Given the description of an element on the screen output the (x, y) to click on. 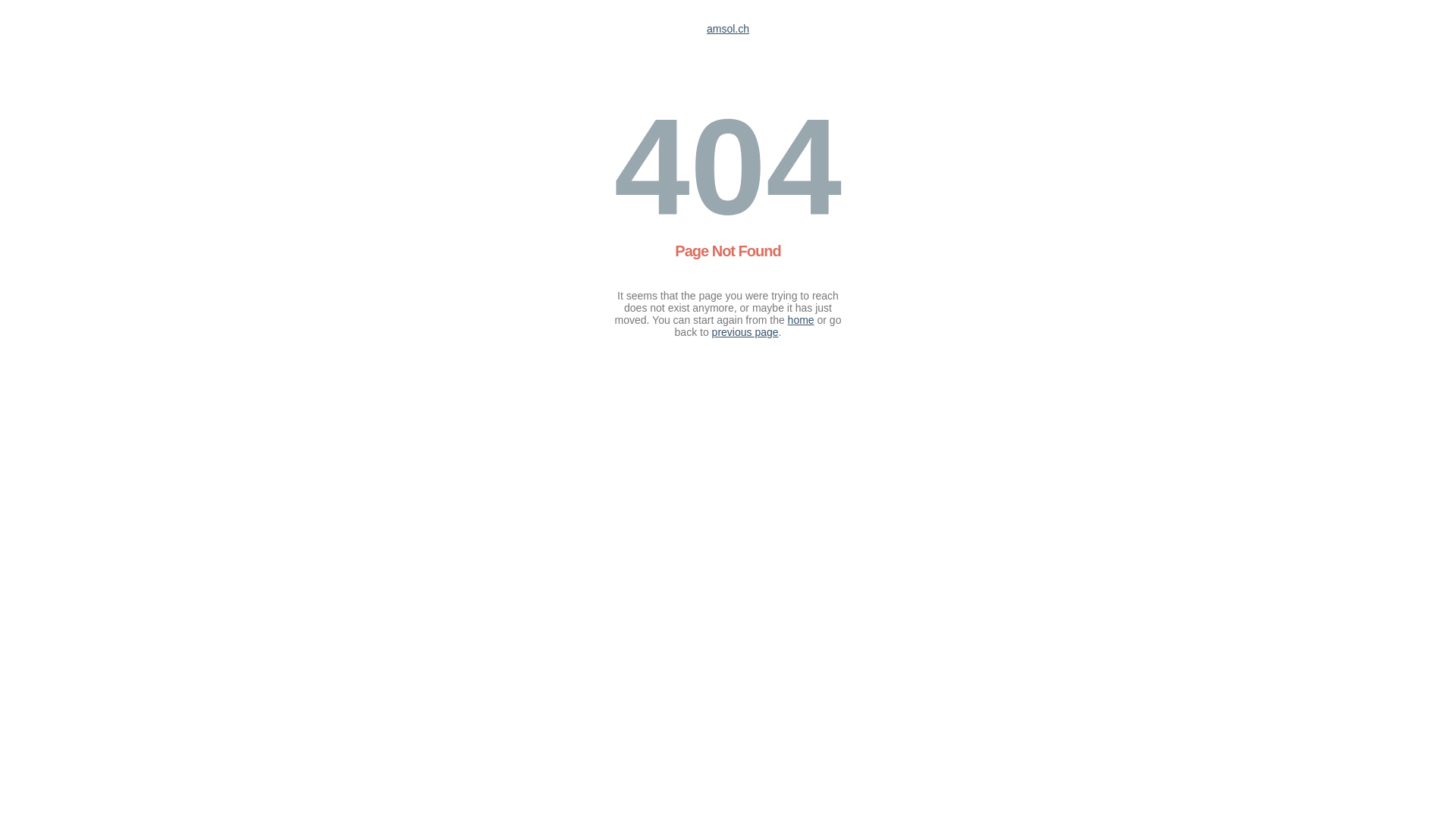
previous page Element type: text (745, 332)
home Element type: text (800, 319)
amsol.ch Element type: text (727, 28)
